Given the description of an element on the screen output the (x, y) to click on. 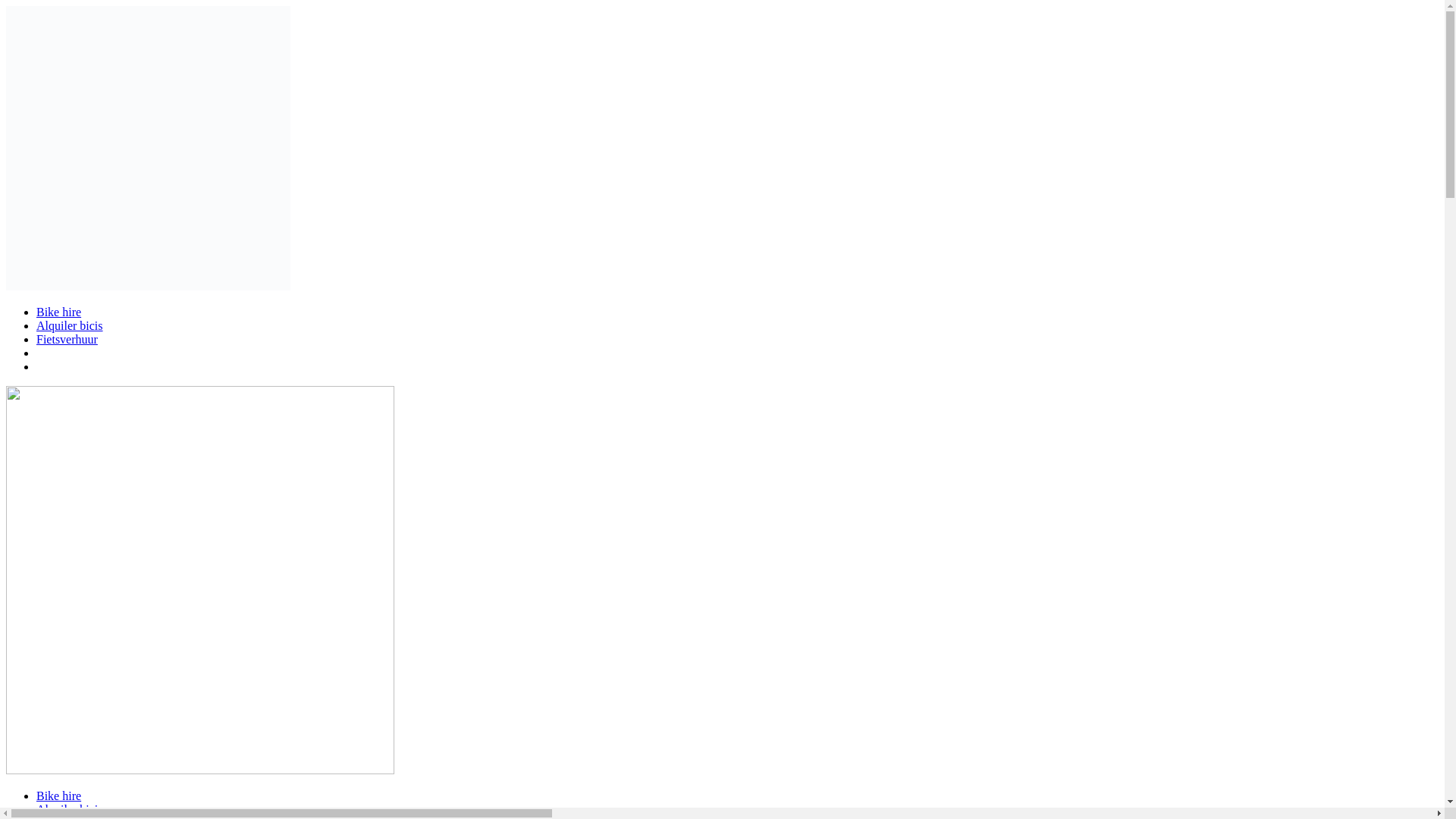
Bike hire (58, 795)
Alquiler bicis (69, 809)
Alquiler bicis (69, 325)
Bike hire (58, 311)
Fietsverhuur (66, 338)
Fietsverhuur (66, 817)
